Given the description of an element on the screen output the (x, y) to click on. 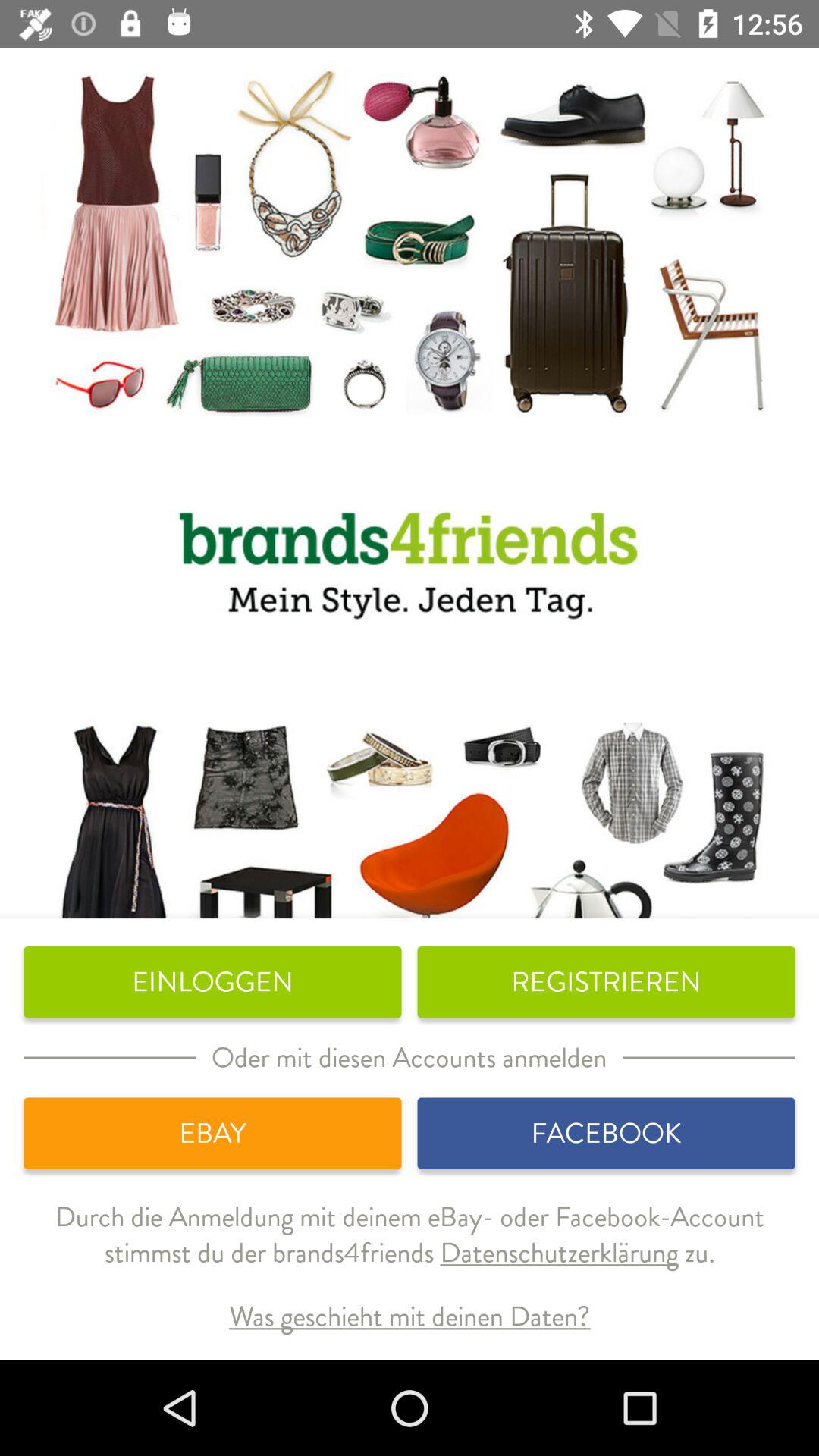
flip to durch die anmeldung item (409, 1246)
